Given the description of an element on the screen output the (x, y) to click on. 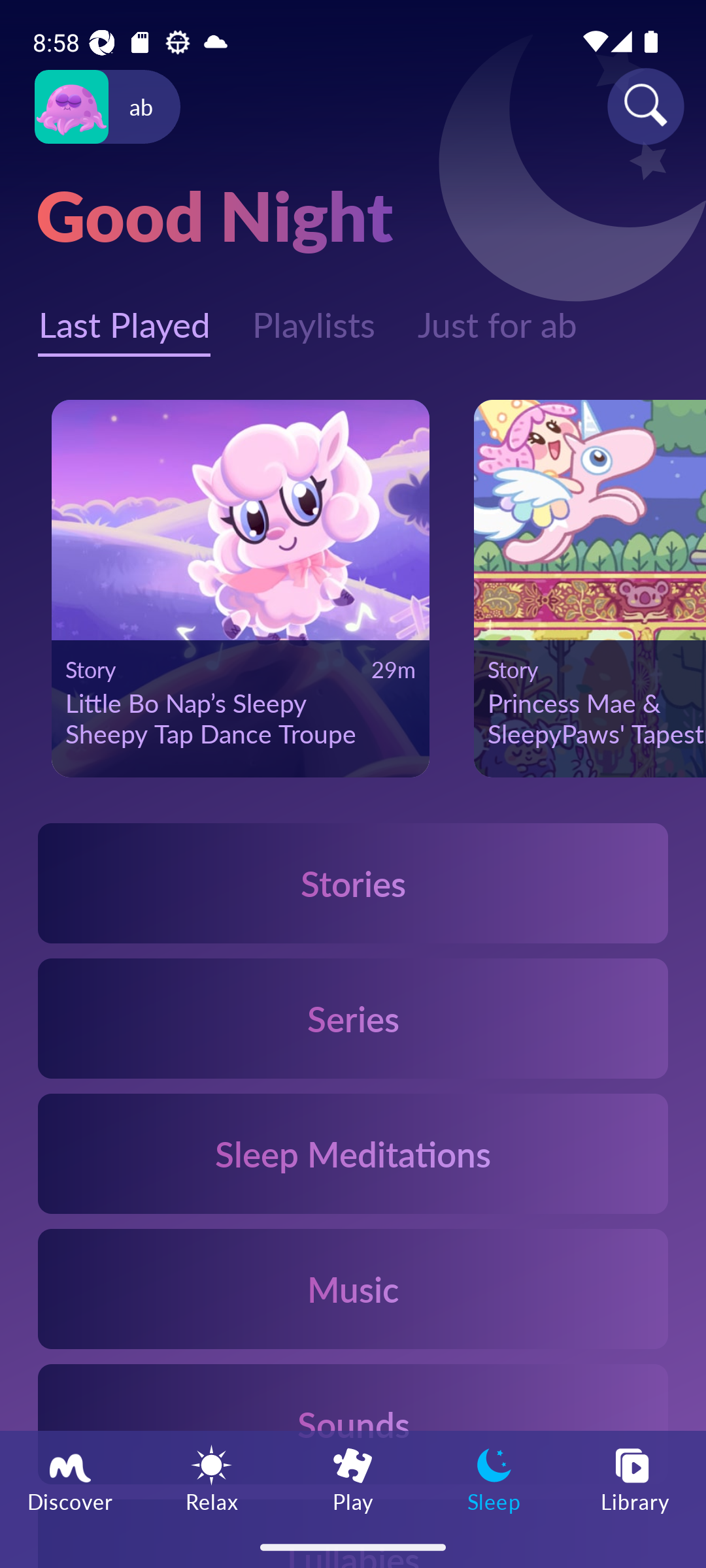
Profile icon ab (107, 107)
Playlists (313, 315)
Just for ab (497, 315)
Stories (352, 883)
Series (352, 1017)
Sleep Meditations (352, 1152)
Music (352, 1288)
Discover (70, 1478)
Relax (211, 1478)
Play (352, 1478)
Library (635, 1478)
